Given the description of an element on the screen output the (x, y) to click on. 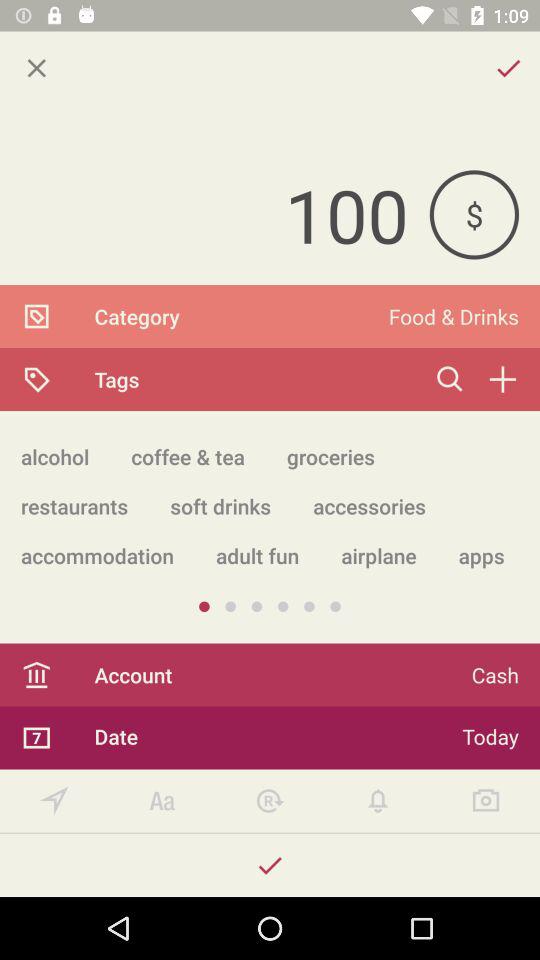
press the item above the 100 icon (36, 68)
